Given the description of an element on the screen output the (x, y) to click on. 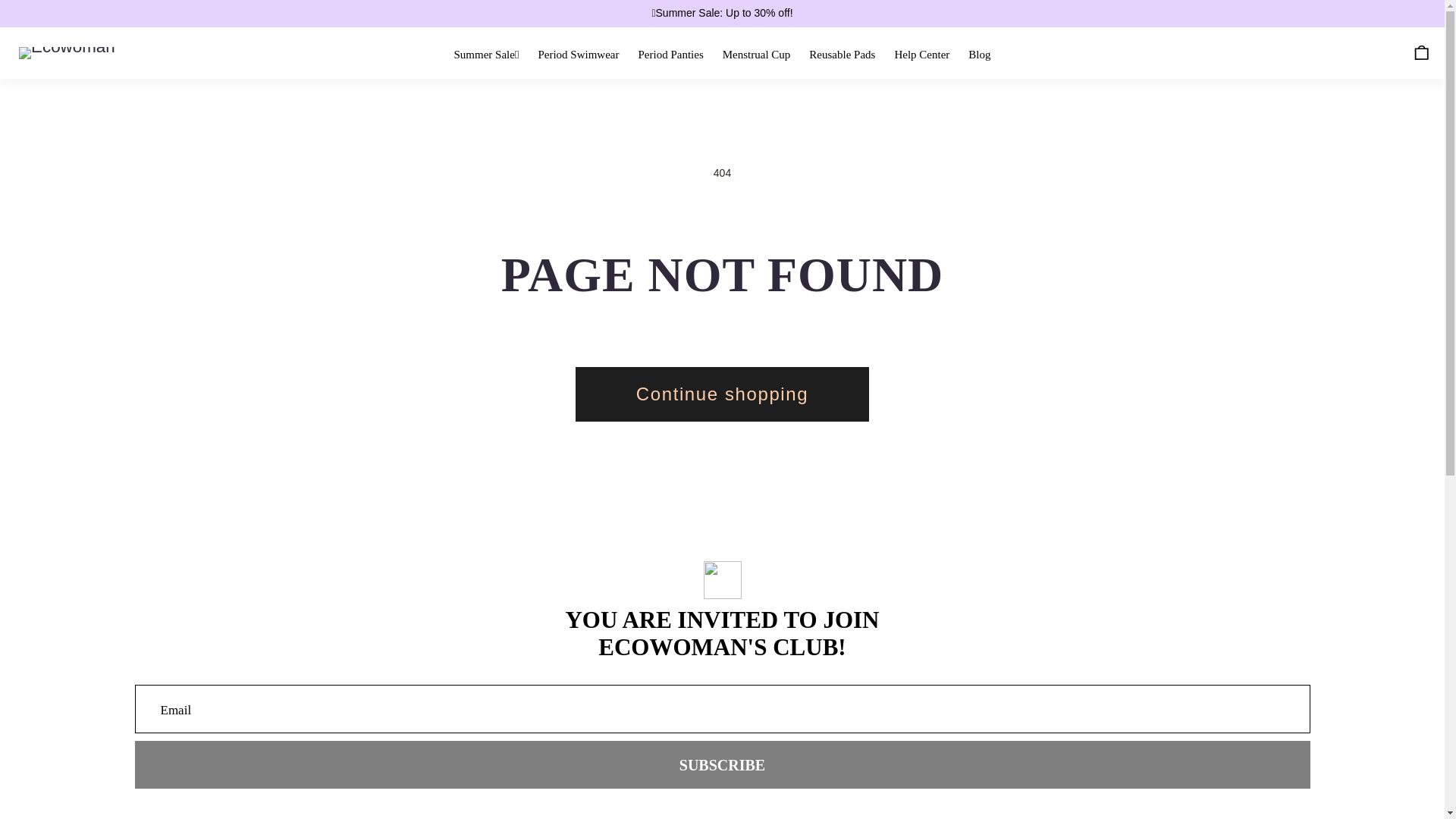
Skip to content (72, 27)
